Given the description of an element on the screen output the (x, y) to click on. 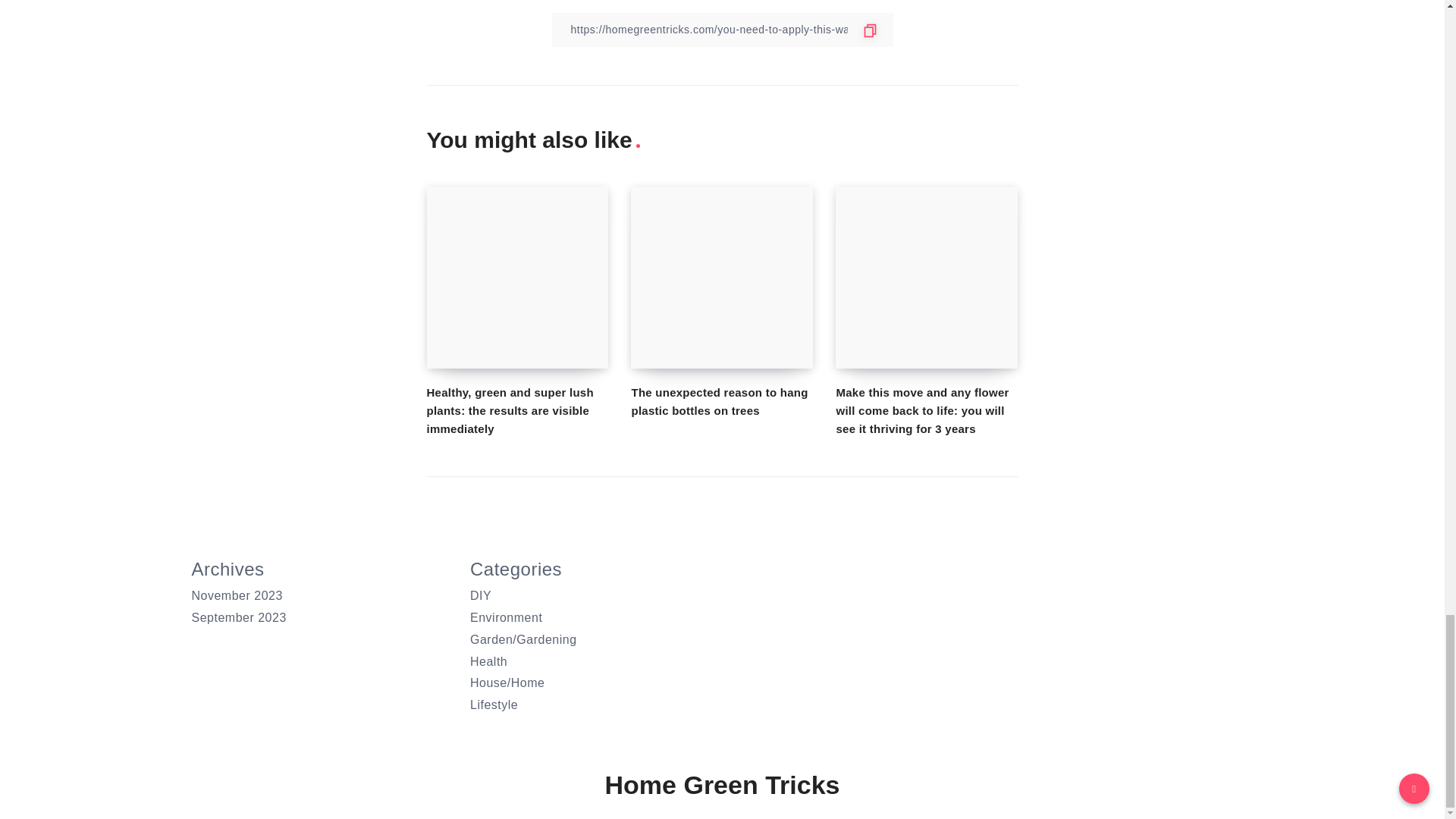
Lifestyle (494, 704)
September 2023 (237, 617)
November 2023 (236, 594)
Home Green Tricks (722, 784)
Environment (505, 617)
DIY (481, 594)
The unexpected reason to hang plastic bottles on trees (719, 400)
Health (488, 661)
